Given the description of an element on the screen output the (x, y) to click on. 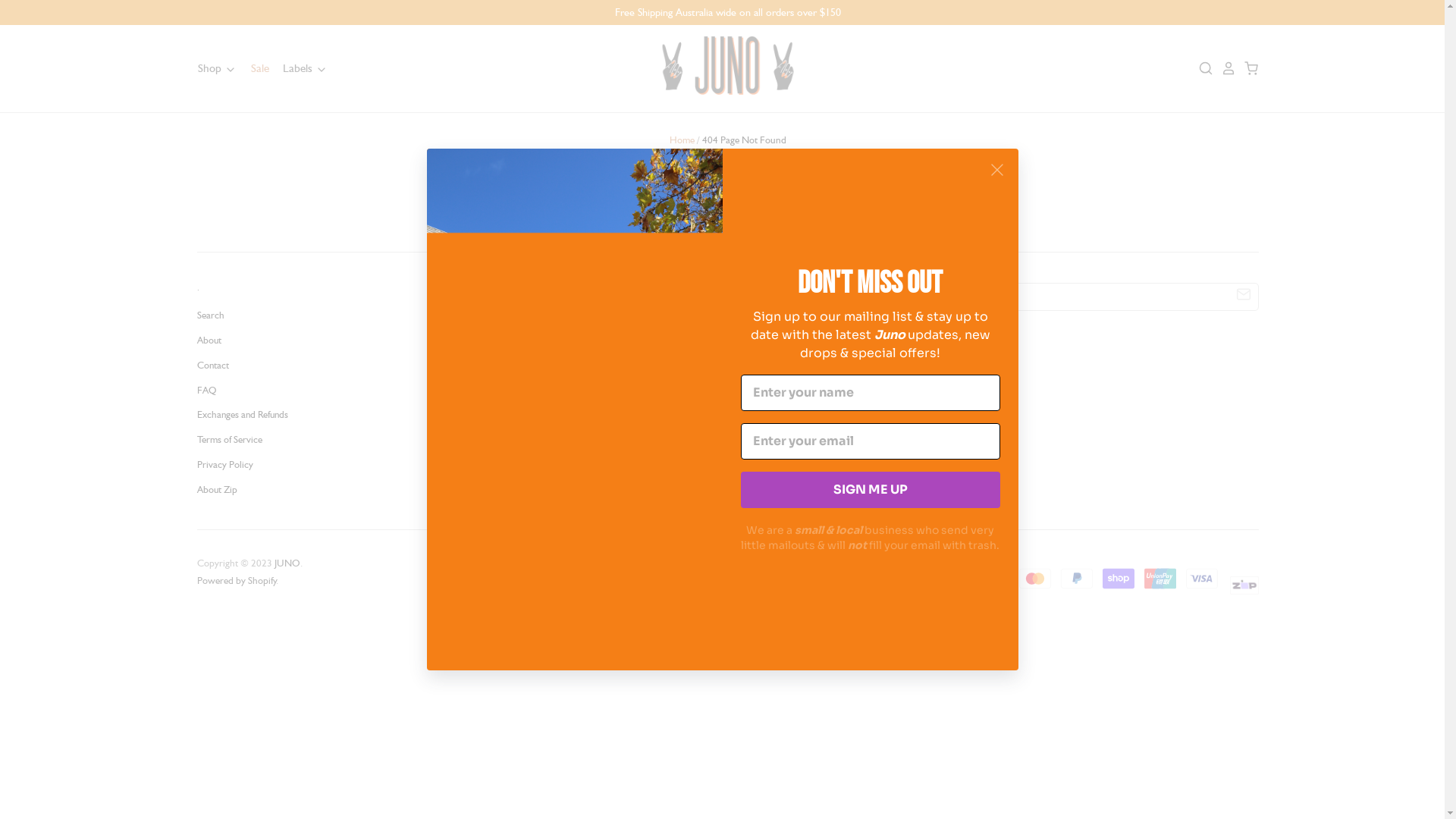
Contact Element type: text (213, 364)
Search Element type: text (210, 314)
Labels Element type: text (299, 67)
About Element type: text (209, 339)
Exchanges and Refunds Element type: text (242, 414)
Sale Element type: text (253, 67)
Terms of Service Element type: text (229, 439)
products Element type: text (907, 210)
JUNO Element type: text (287, 562)
Privacy Policy Element type: text (225, 464)
hello@junostore.com.au Element type: text (606, 436)
Powered by Shopify Element type: text (236, 580)
About Zip Element type: text (217, 489)
Shop Element type: text (217, 67)
searching Element type: text (792, 210)
Home Element type: text (681, 139)
FAQ Element type: text (206, 389)
